Given the description of an element on the screen output the (x, y) to click on. 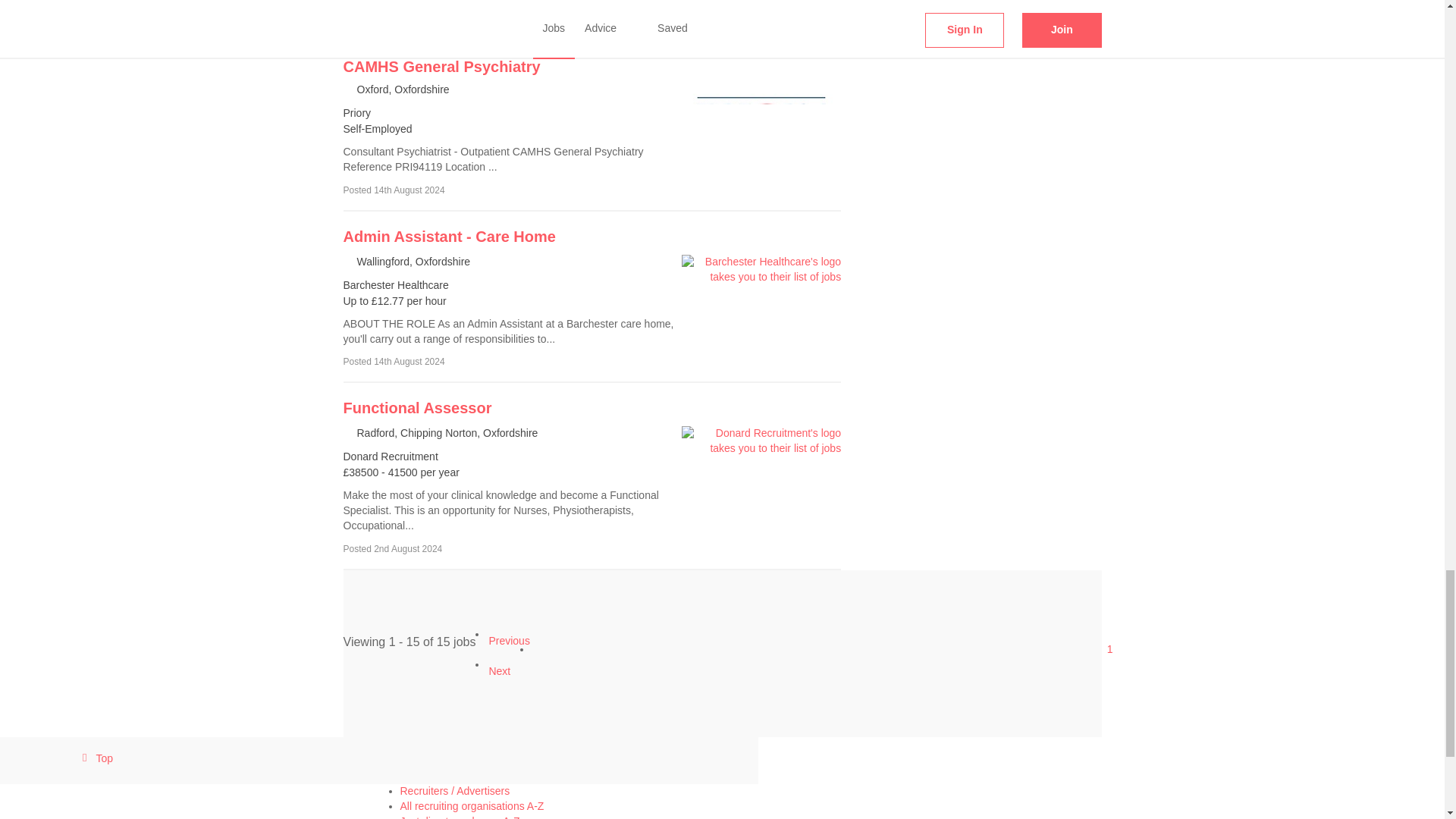
Top (379, 760)
Find out more about Priory jobs (471, 56)
Top (95, 758)
Find out more about Donard Recruitment jobs (417, 407)
